Given the description of an element on the screen output the (x, y) to click on. 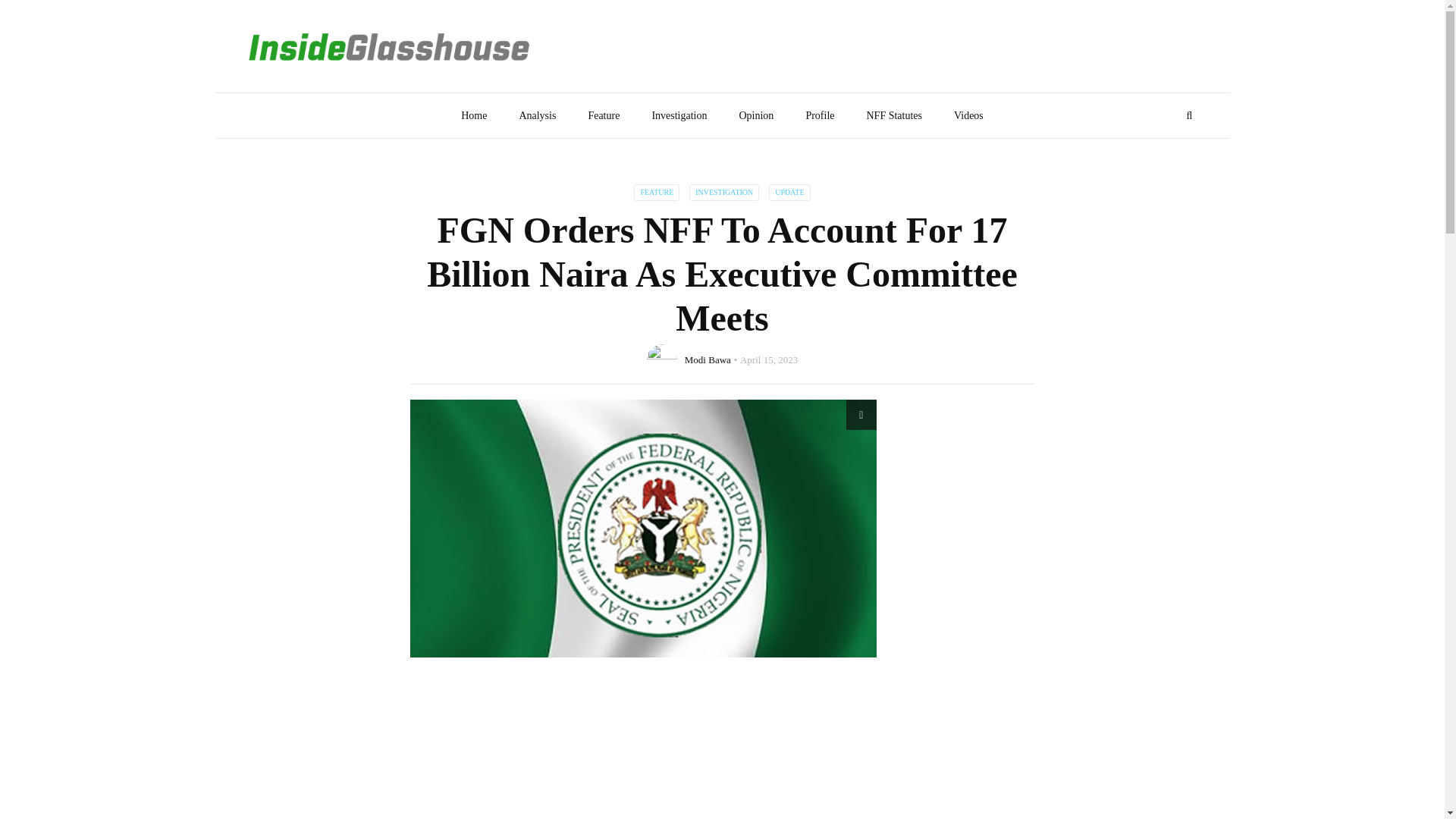
Modi Bawa (707, 358)
Investigation (678, 115)
Home (473, 115)
NFF Statutes (893, 115)
Opinion (755, 115)
Profile (819, 115)
FEATURE (656, 192)
Feature (603, 115)
Videos (967, 115)
INVESTIGATION (723, 192)
UPDATE (788, 192)
Advertisement (721, 754)
Analysis (537, 115)
